Given the description of an element on the screen output the (x, y) to click on. 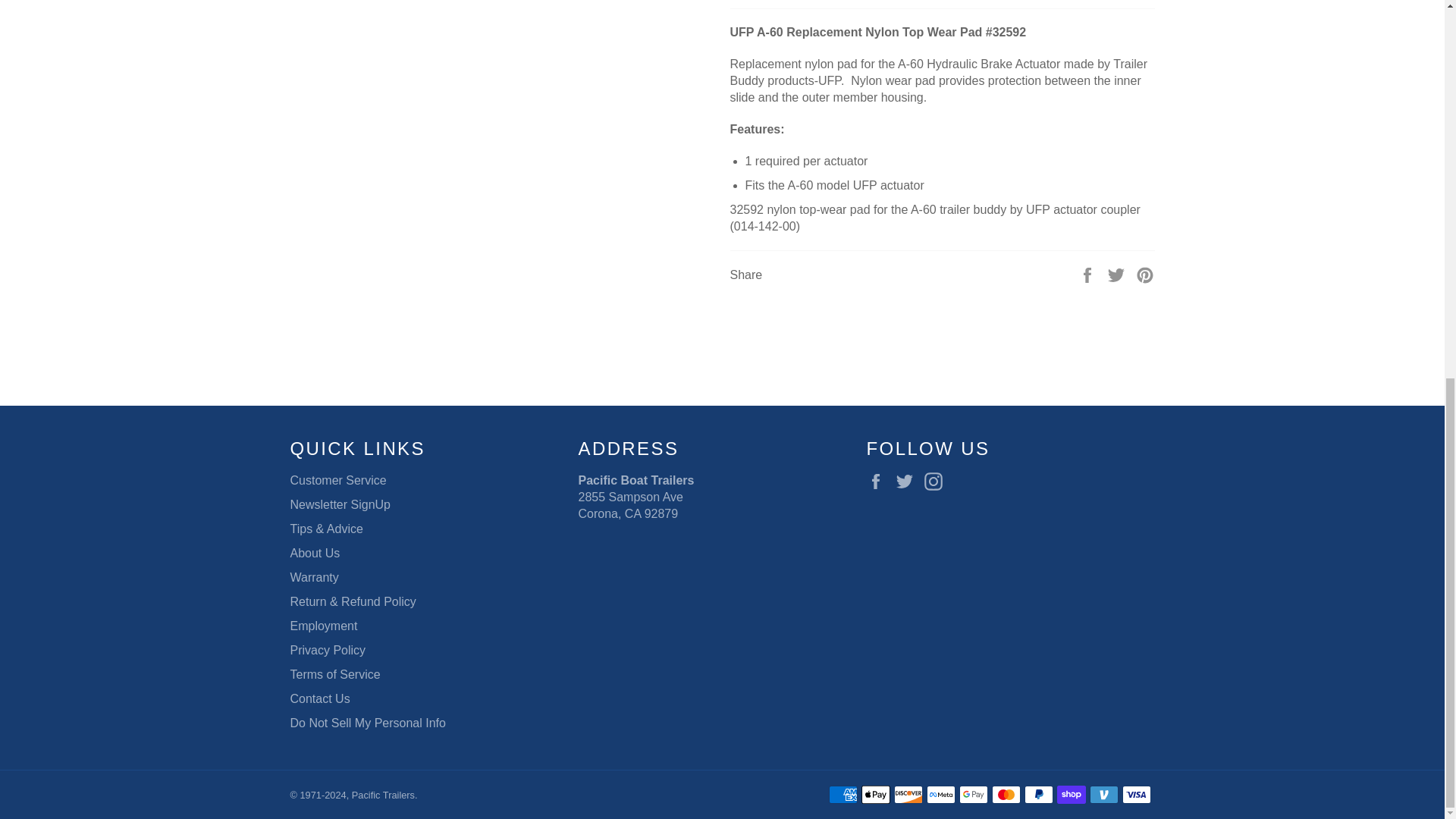
Pacific Trailers on Instagram (937, 480)
Pacific Trailers on Twitter (908, 480)
Share on Facebook (1088, 273)
Pacific Trailers on Facebook (878, 480)
Pin on Pinterest (1144, 273)
Tweet on Twitter (1117, 273)
